Given the description of an element on the screen output the (x, y) to click on. 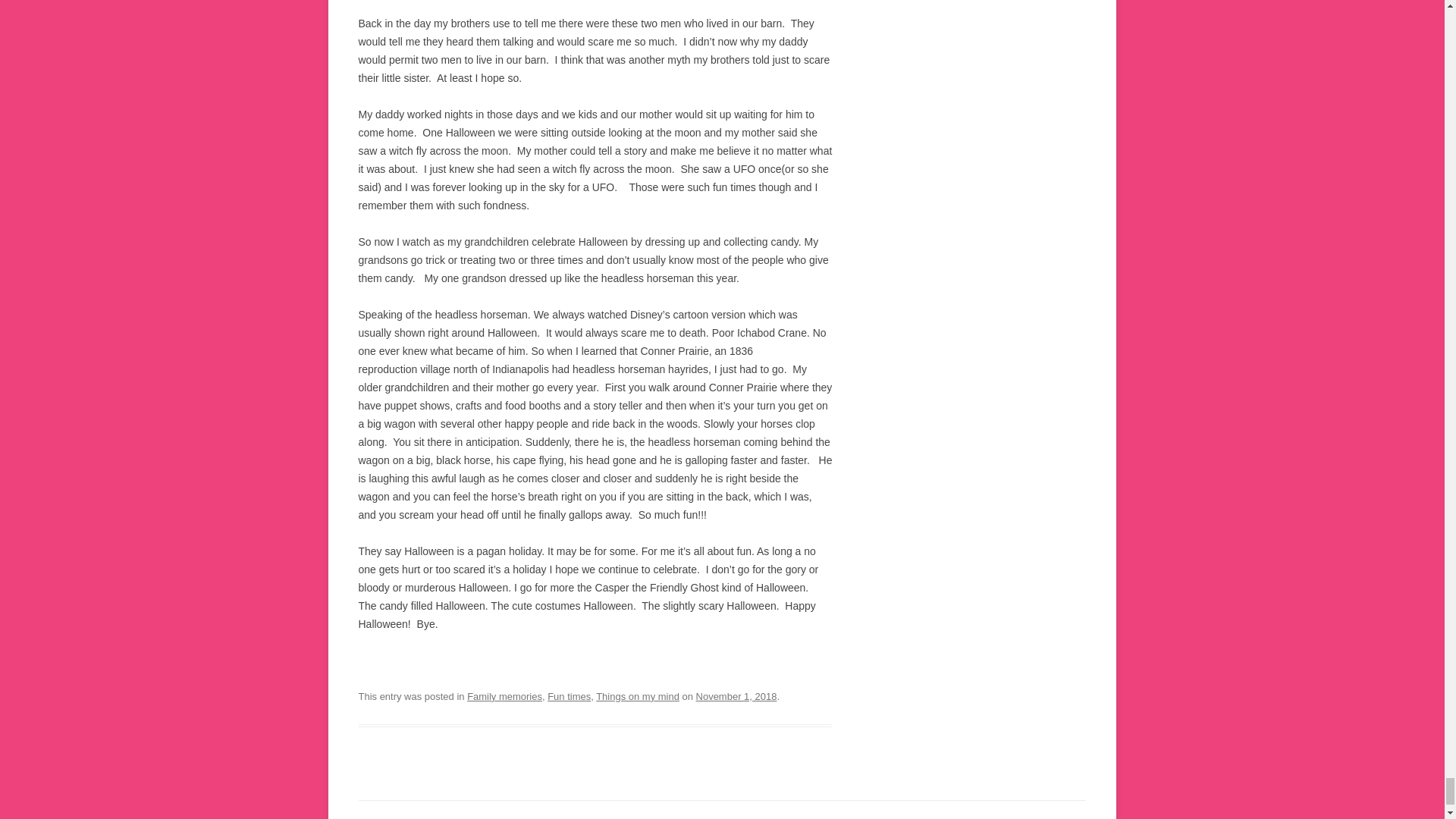
1:21 am (736, 696)
